Given the description of an element on the screen output the (x, y) to click on. 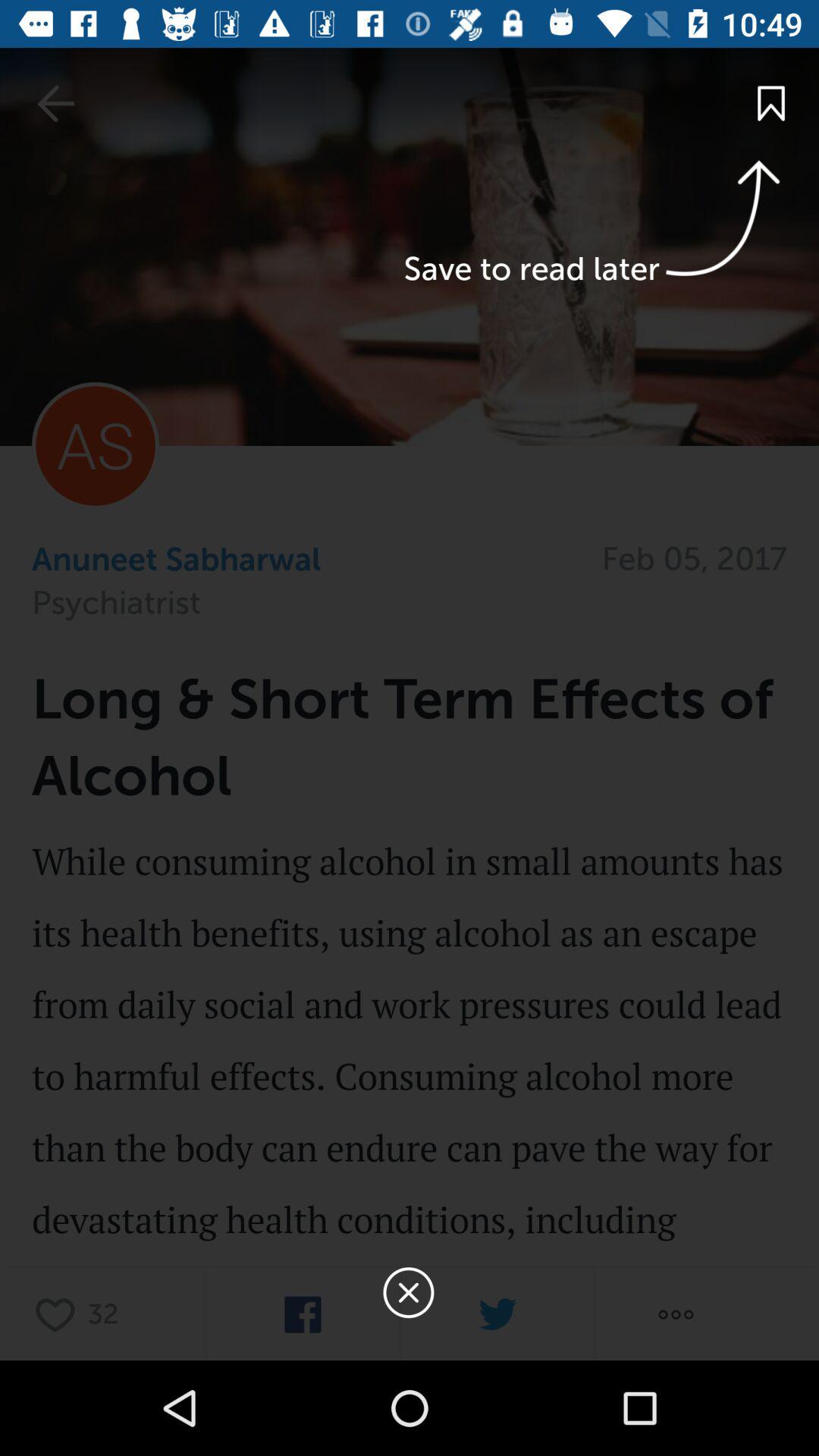
more options (675, 1314)
